Given the description of an element on the screen output the (x, y) to click on. 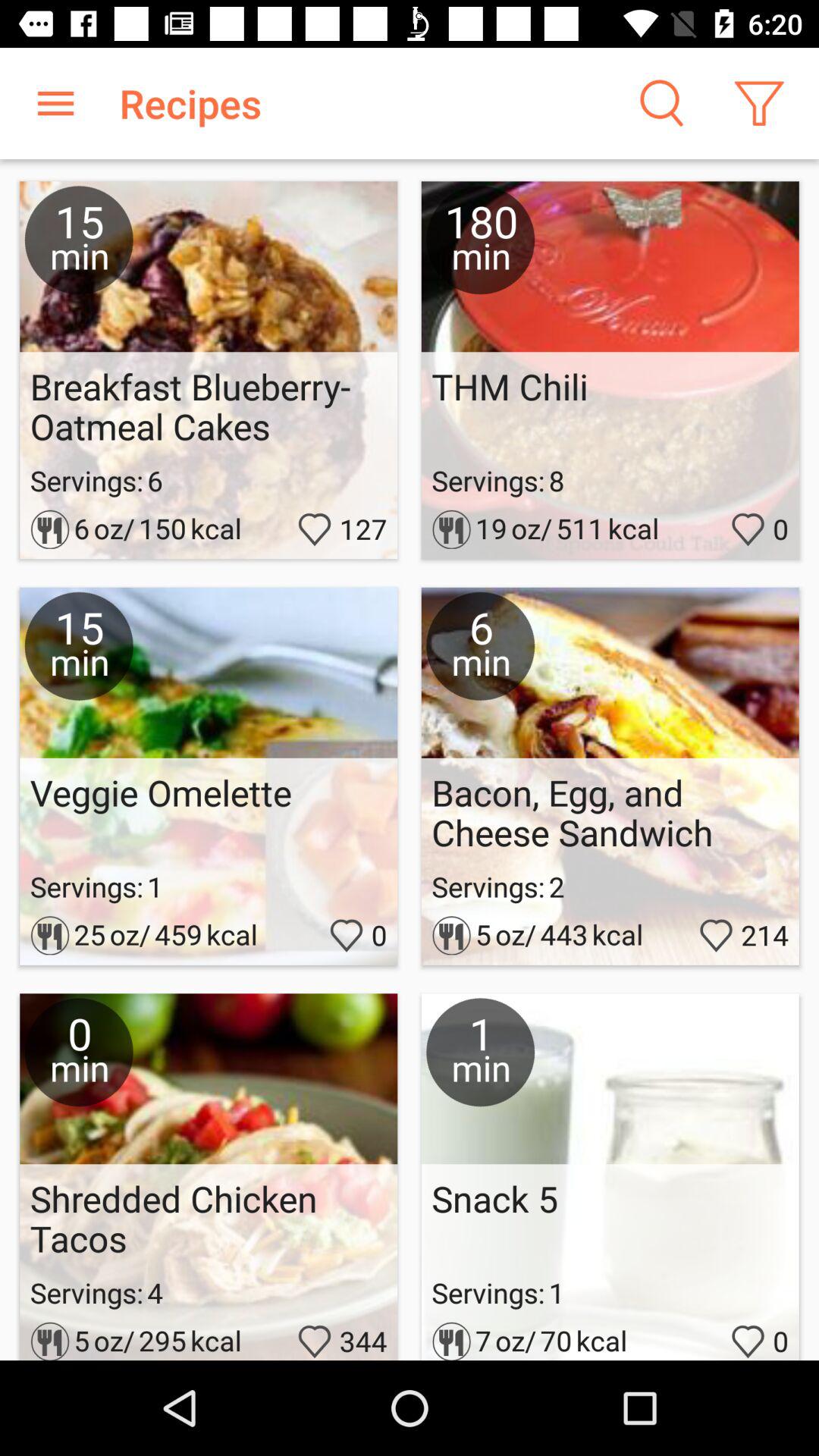
search icon (659, 103)
